Given the description of an element on the screen output the (x, y) to click on. 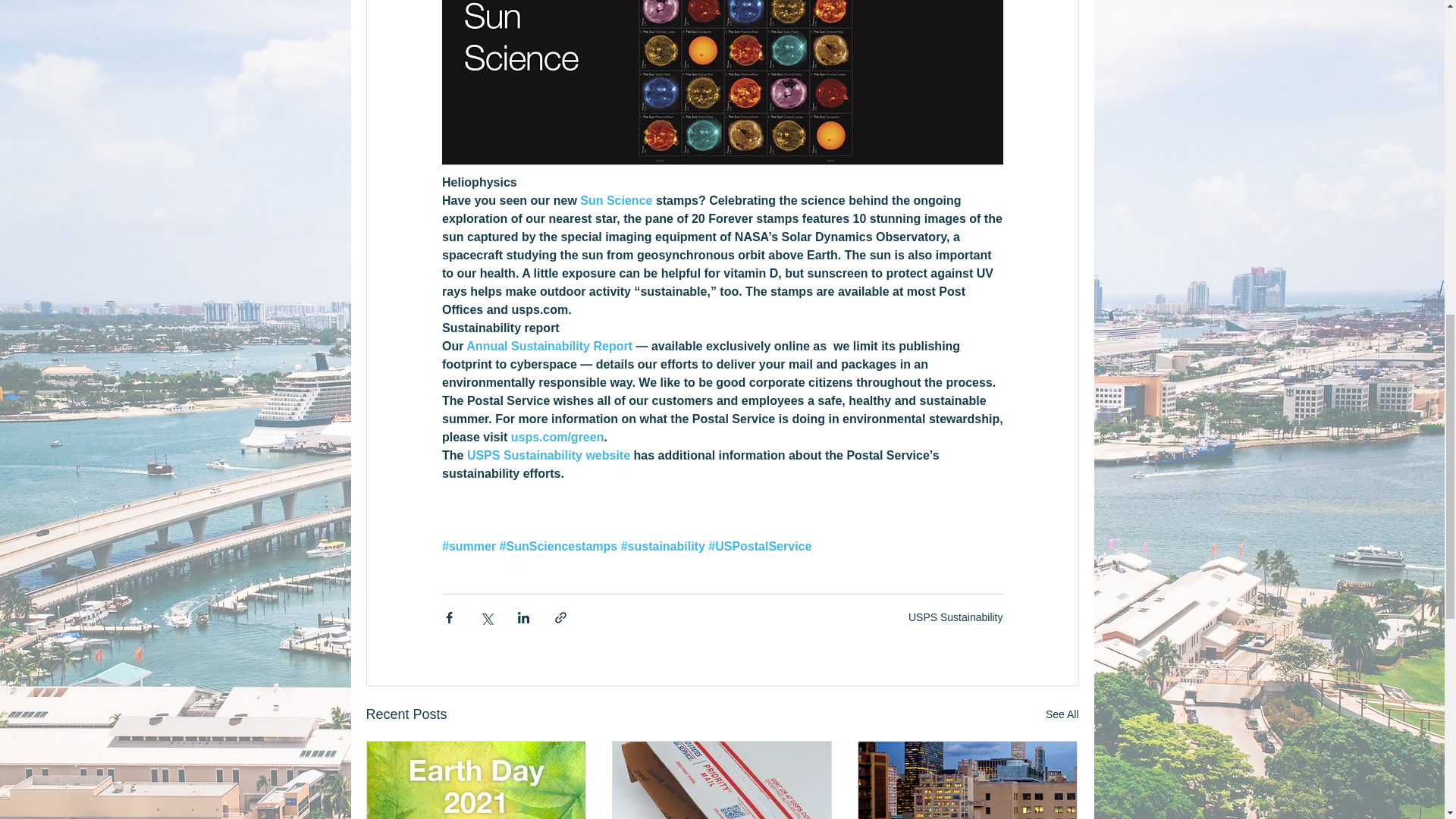
Annual Sustainability Report (548, 345)
See All (1061, 714)
USPS Sustainability website (546, 454)
USPS Sustainability (955, 616)
Sun Science (615, 200)
